Given the description of an element on the screen output the (x, y) to click on. 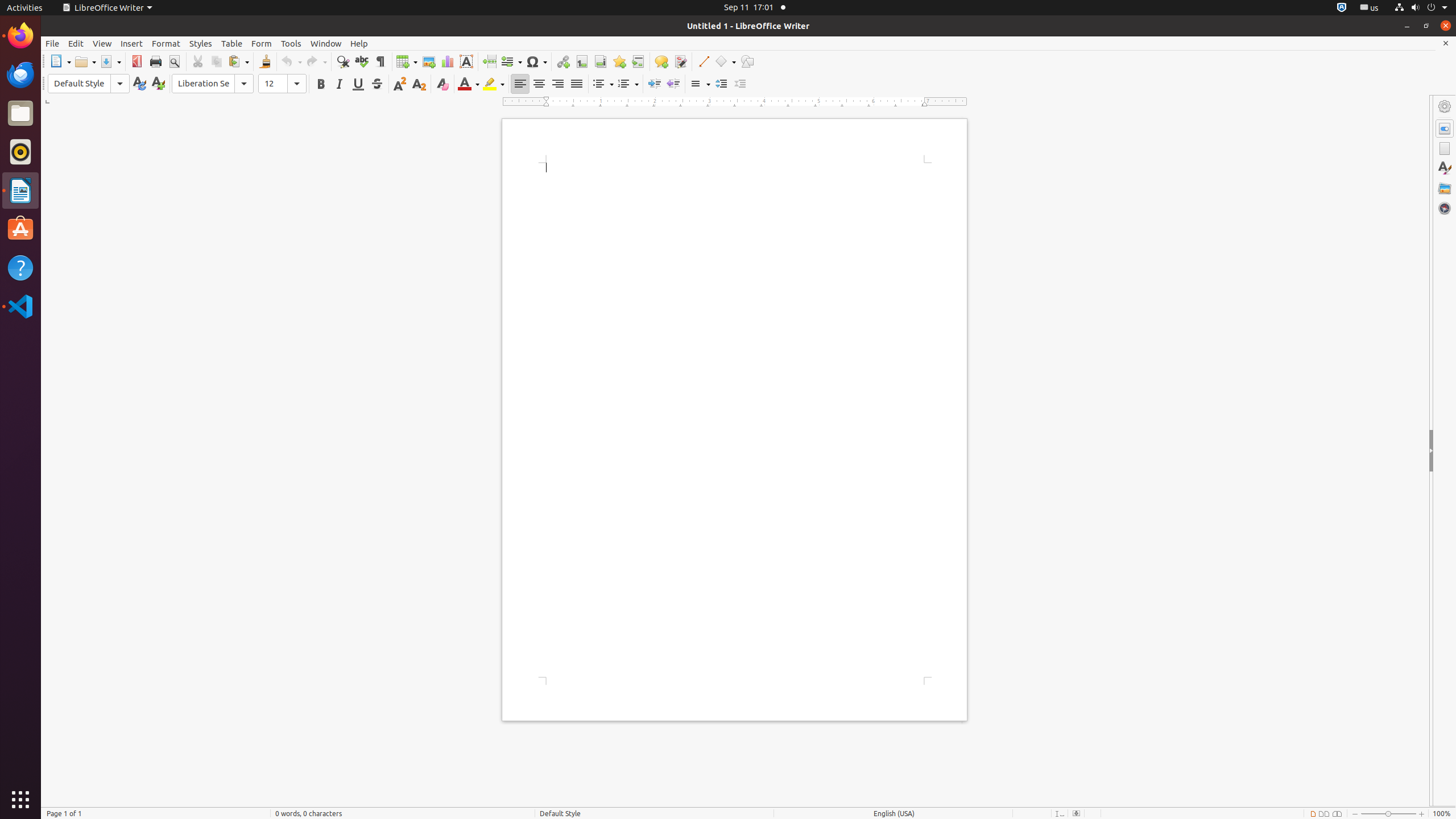
Underline Element type: push-button (357, 83)
PDF Element type: push-button (136, 61)
